Given the description of an element on the screen output the (x, y) to click on. 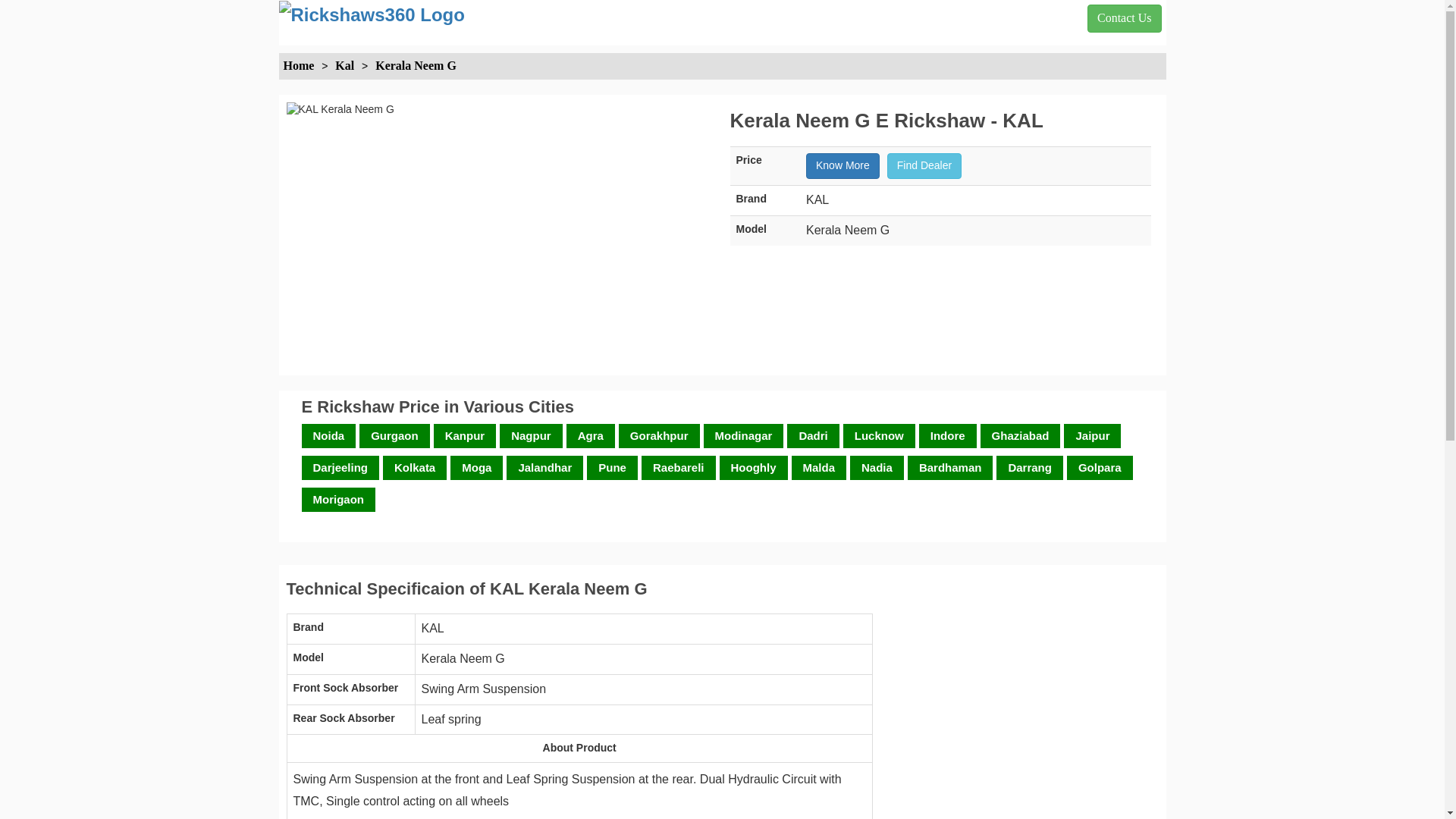
Darrang (1029, 467)
Kal (338, 65)
Jalandhar (545, 467)
Kanpur (465, 435)
Ghaziabad (1020, 435)
Pune (612, 467)
Indore (947, 435)
Modinagar (743, 435)
Home (298, 65)
Raebareli (678, 467)
Rickshaws360 Home (298, 65)
Morigaon (337, 499)
Nadia (876, 467)
Bardhaman (950, 467)
Malda (818, 467)
